Given the description of an element on the screen output the (x, y) to click on. 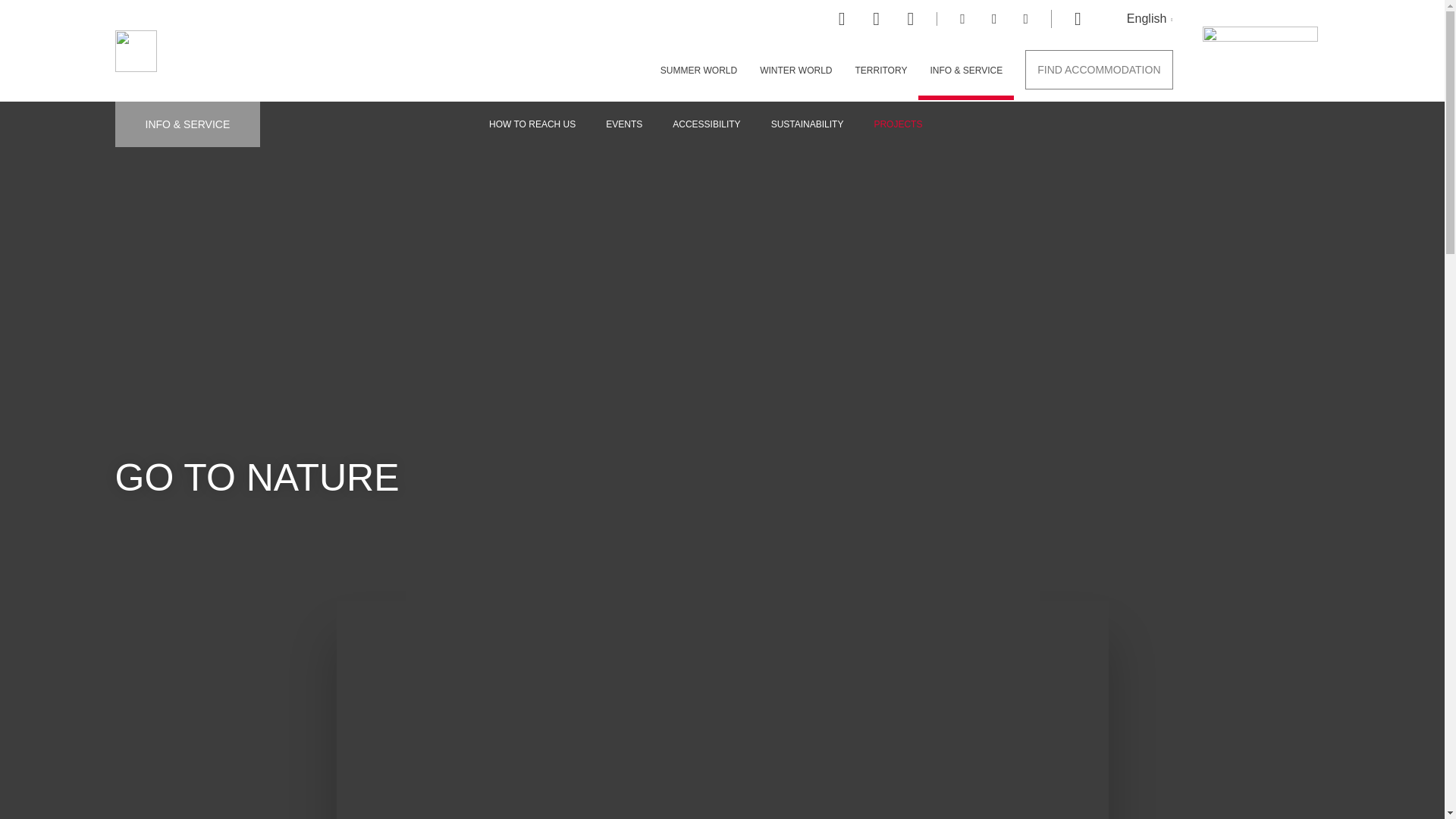
SUMMER WORLD (698, 73)
English (1149, 18)
WINTER WORLD (795, 73)
